Given the description of an element on the screen output the (x, y) to click on. 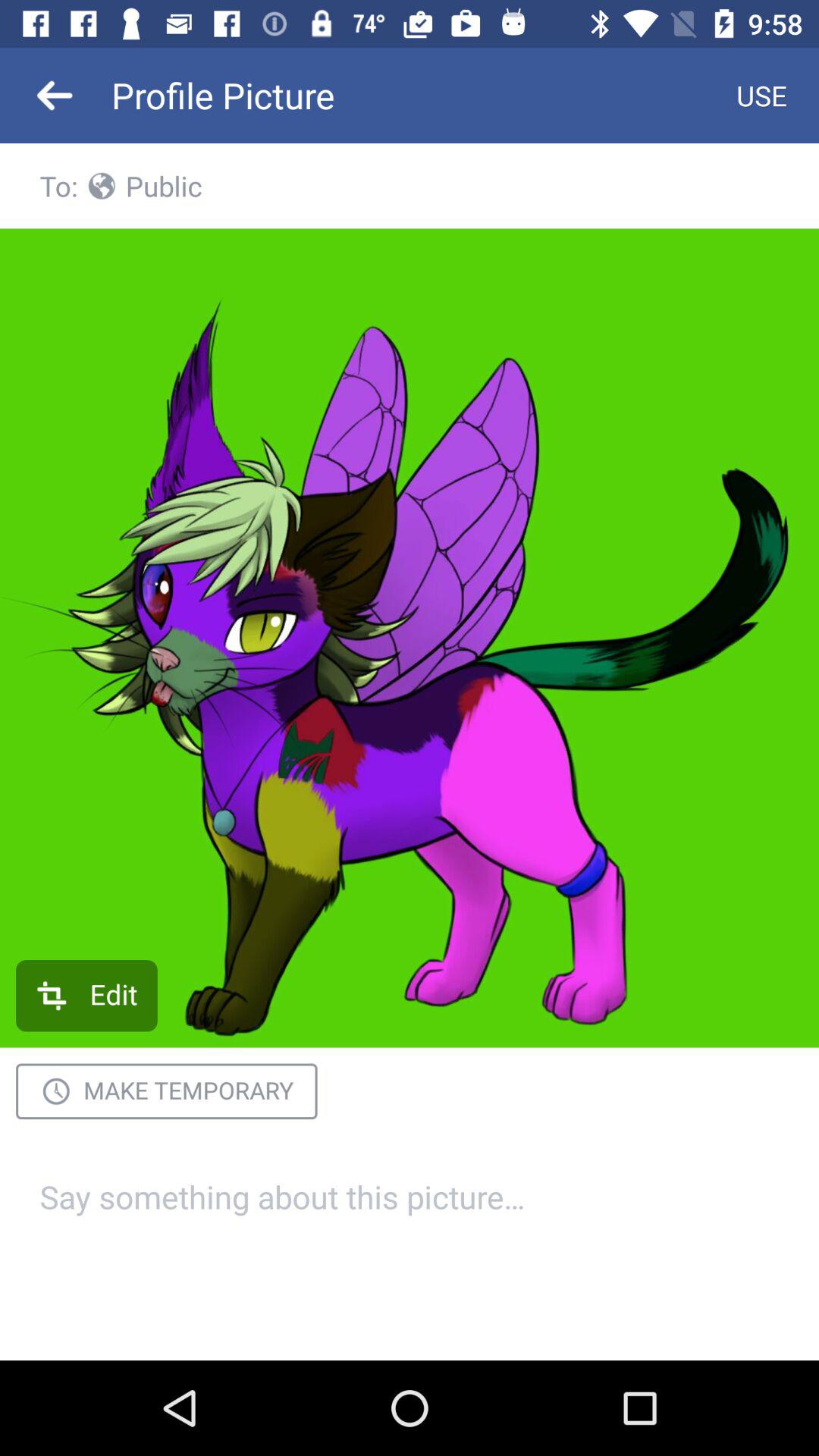
press icon to the left of the profile picture item (55, 95)
